Given the description of an element on the screen output the (x, y) to click on. 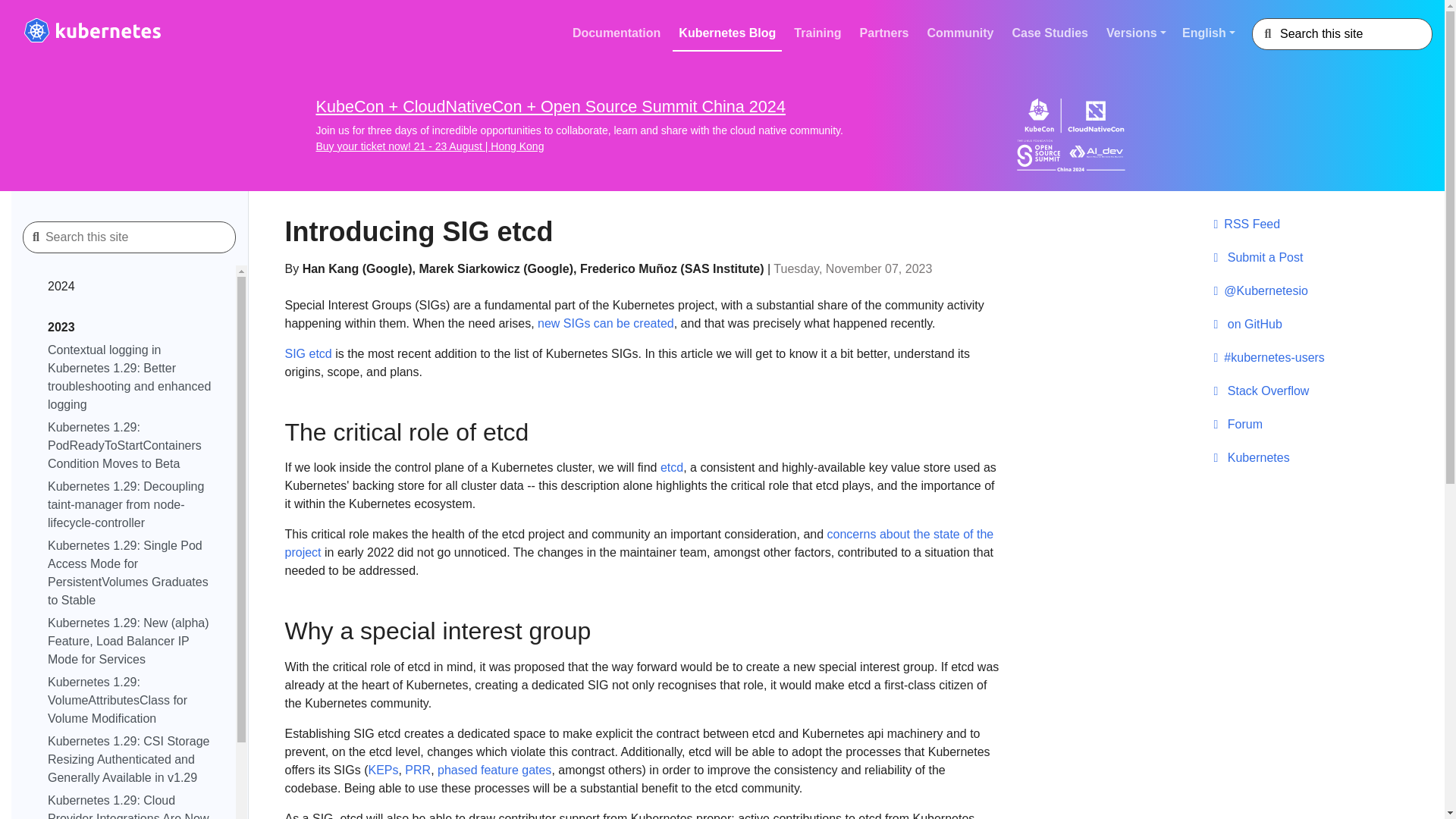
Versions (1138, 33)
Case Studies (1050, 33)
Community (960, 33)
Partners (884, 33)
Kubernetes Blog (726, 33)
2024 (132, 288)
Documentation (616, 33)
English (1214, 33)
Training (817, 33)
